Given the description of an element on the screen output the (x, y) to click on. 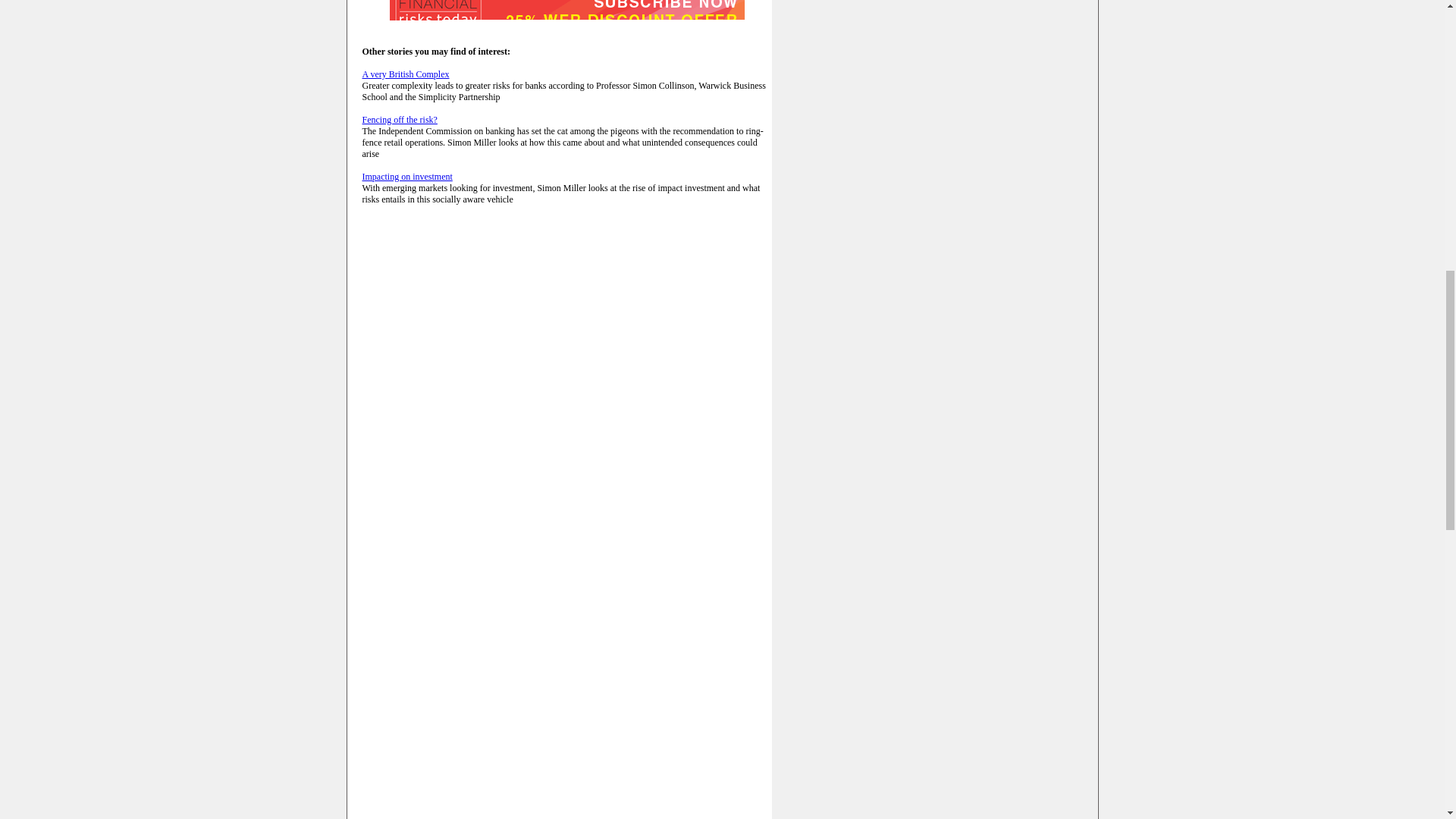
A very British Complex (405, 73)
Impacting on investment (407, 176)
Fencing off the risk? (400, 119)
